Given the description of an element on the screen output the (x, y) to click on. 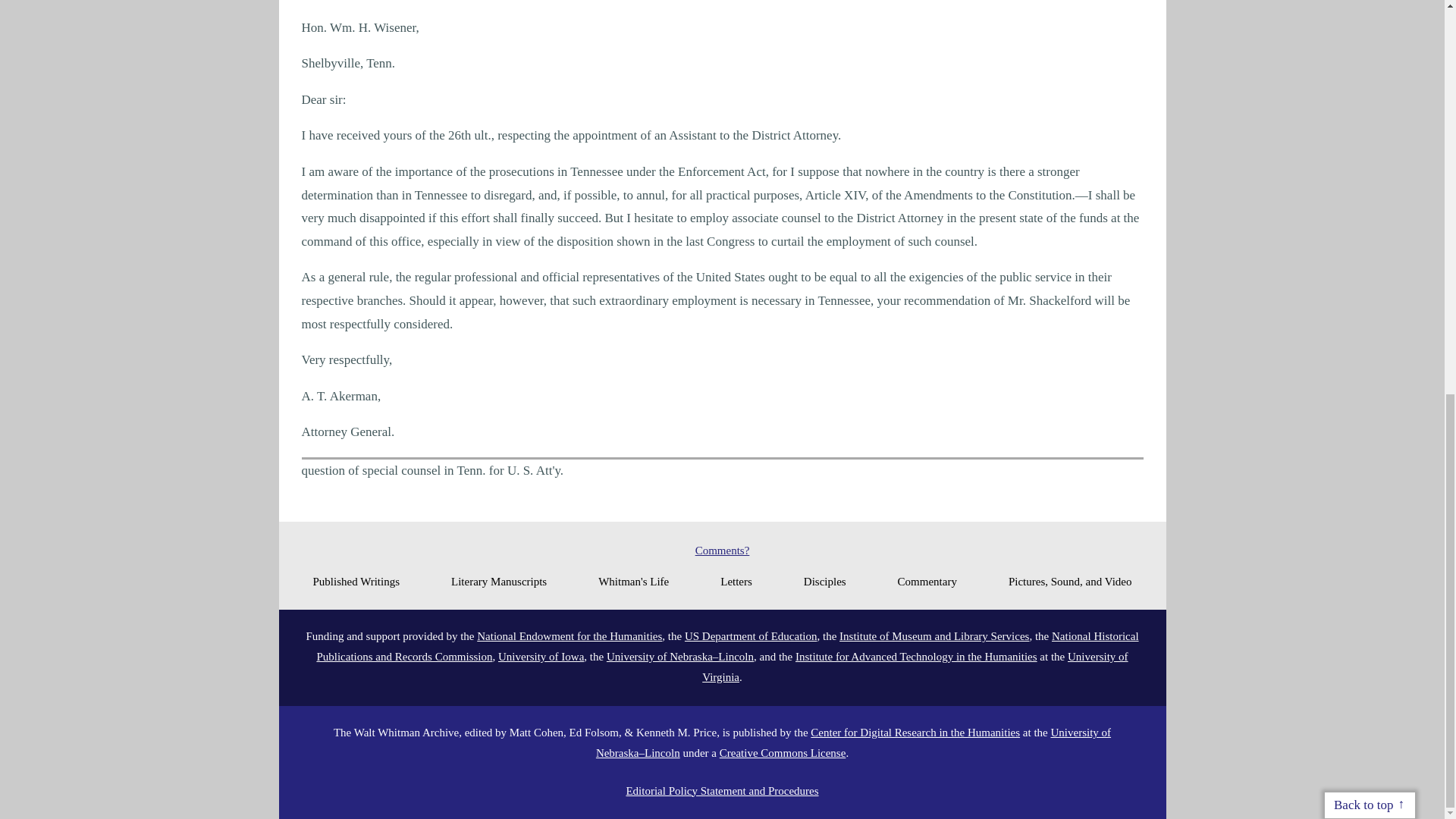
National Historical Publications and Records Commission (726, 645)
University of Iowa (540, 656)
Published Writings (355, 581)
Literary Manuscripts (499, 581)
Creative Commons License (782, 752)
Editorial Policy Statement and Procedures (722, 790)
Letters (736, 581)
Institute of Museum and Library Services (934, 635)
US Department of Education (750, 635)
University of Virginia (913, 666)
Pictures, Sound, and Video (1070, 581)
National Endowment for the Humanities (569, 635)
Commentary (927, 581)
Whitman's Life (633, 581)
Institute for Advanced Technology in the Humanities (915, 656)
